Given the description of an element on the screen output the (x, y) to click on. 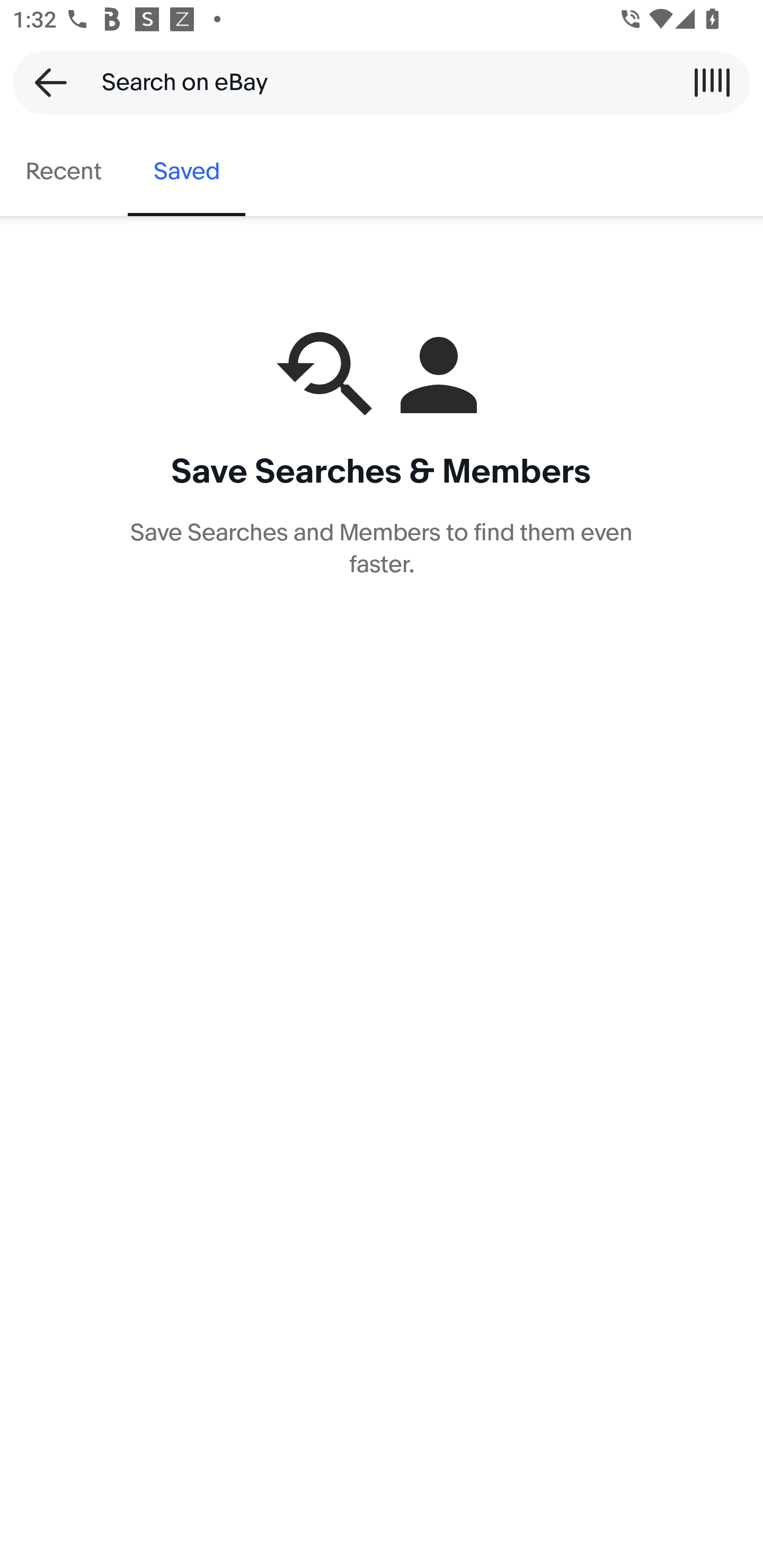
Back (44, 82)
Scan a barcode (711, 82)
Search on eBay (375, 82)
Recent, tab 1 of 2 Recent (63, 171)
